Given the description of an element on the screen output the (x, y) to click on. 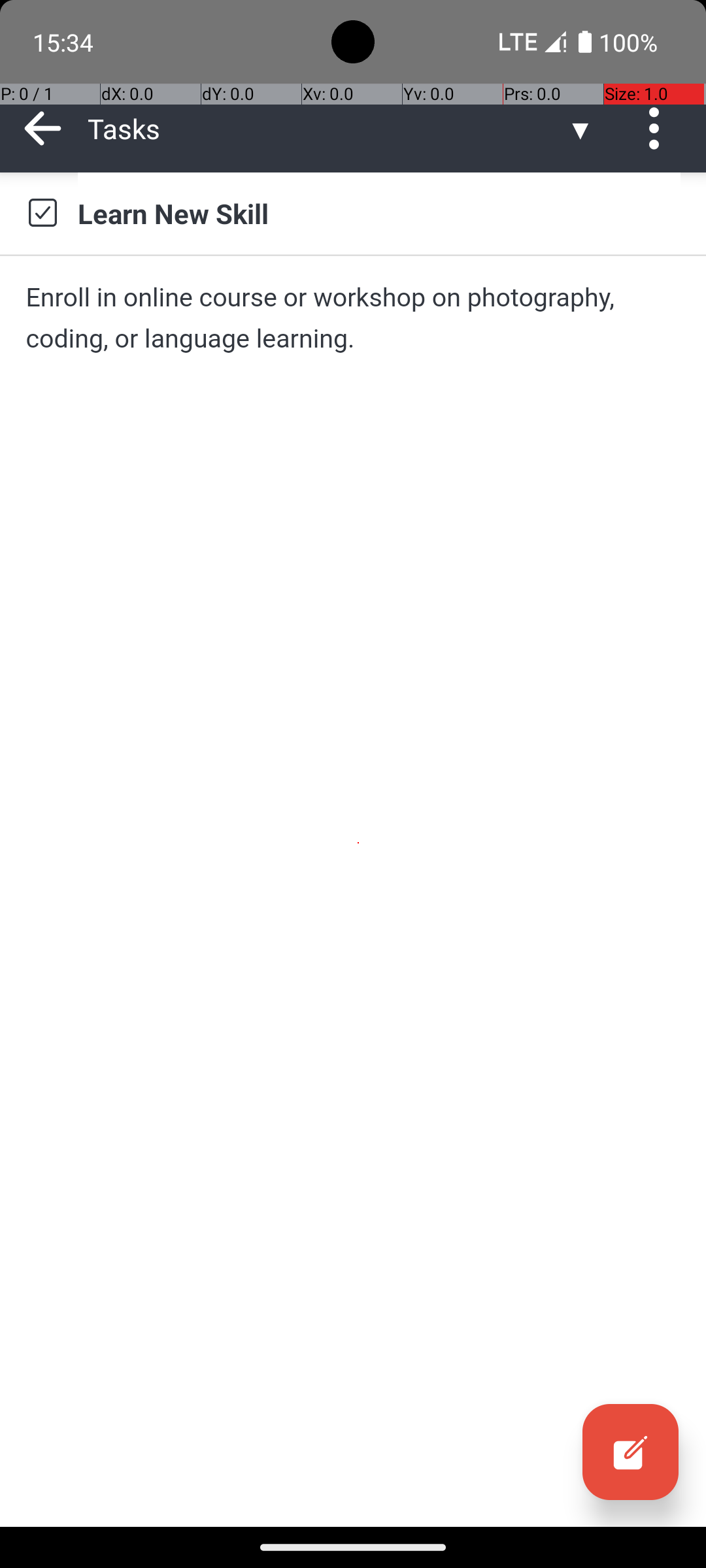
Learn New Skill Element type: android.widget.EditText (378, 213)
Enroll in online course or workshop on photography, coding, or language learning. Element type: android.widget.TextView (352, 317)
